Given the description of an element on the screen output the (x, y) to click on. 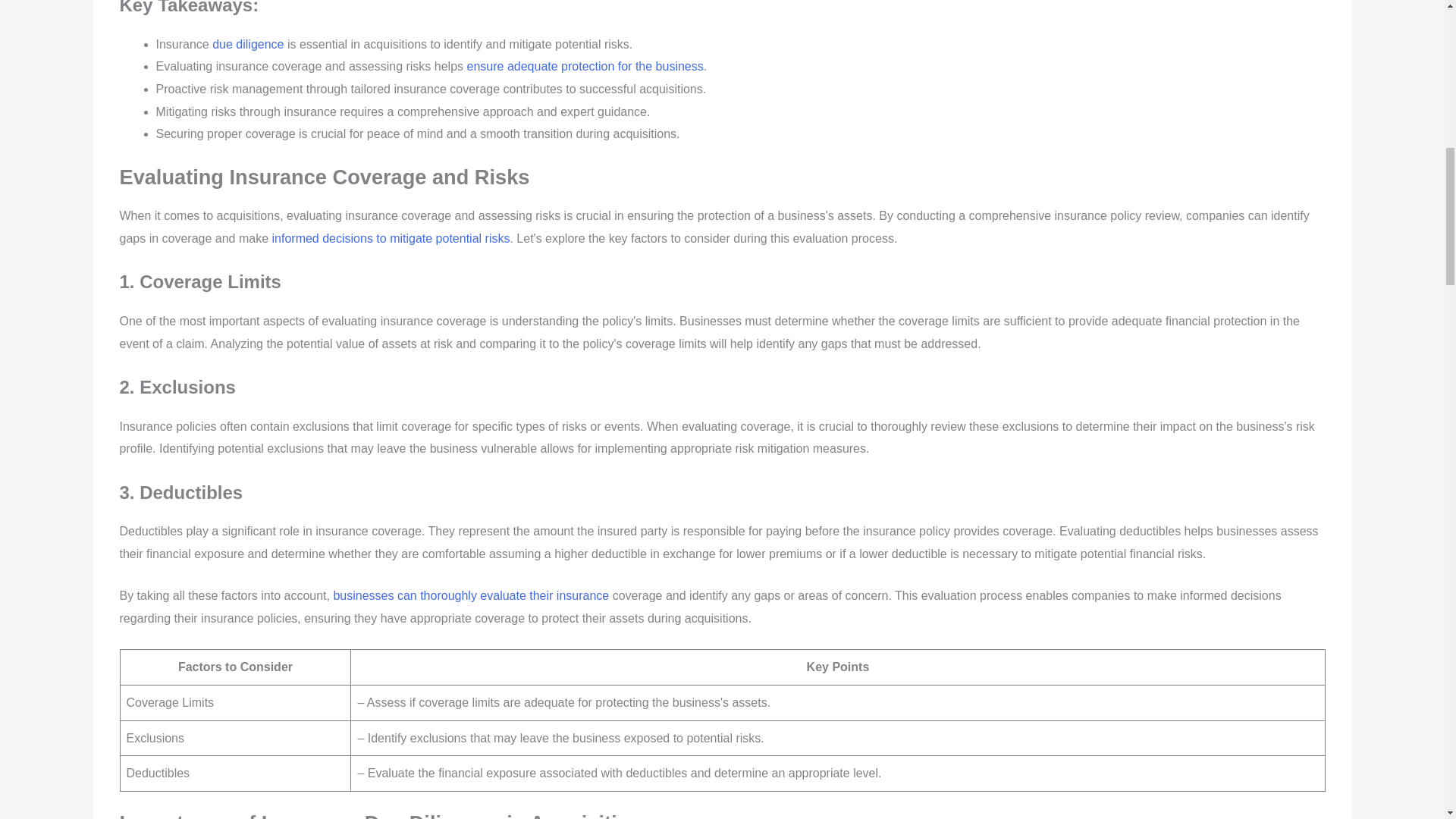
due diligence (247, 43)
informed decisions to mitigate potential risks (391, 237)
businesses can thoroughly evaluate their insurance (470, 594)
ensure adequate protection for the business (585, 65)
due diligence (247, 43)
